Given the description of an element on the screen output the (x, y) to click on. 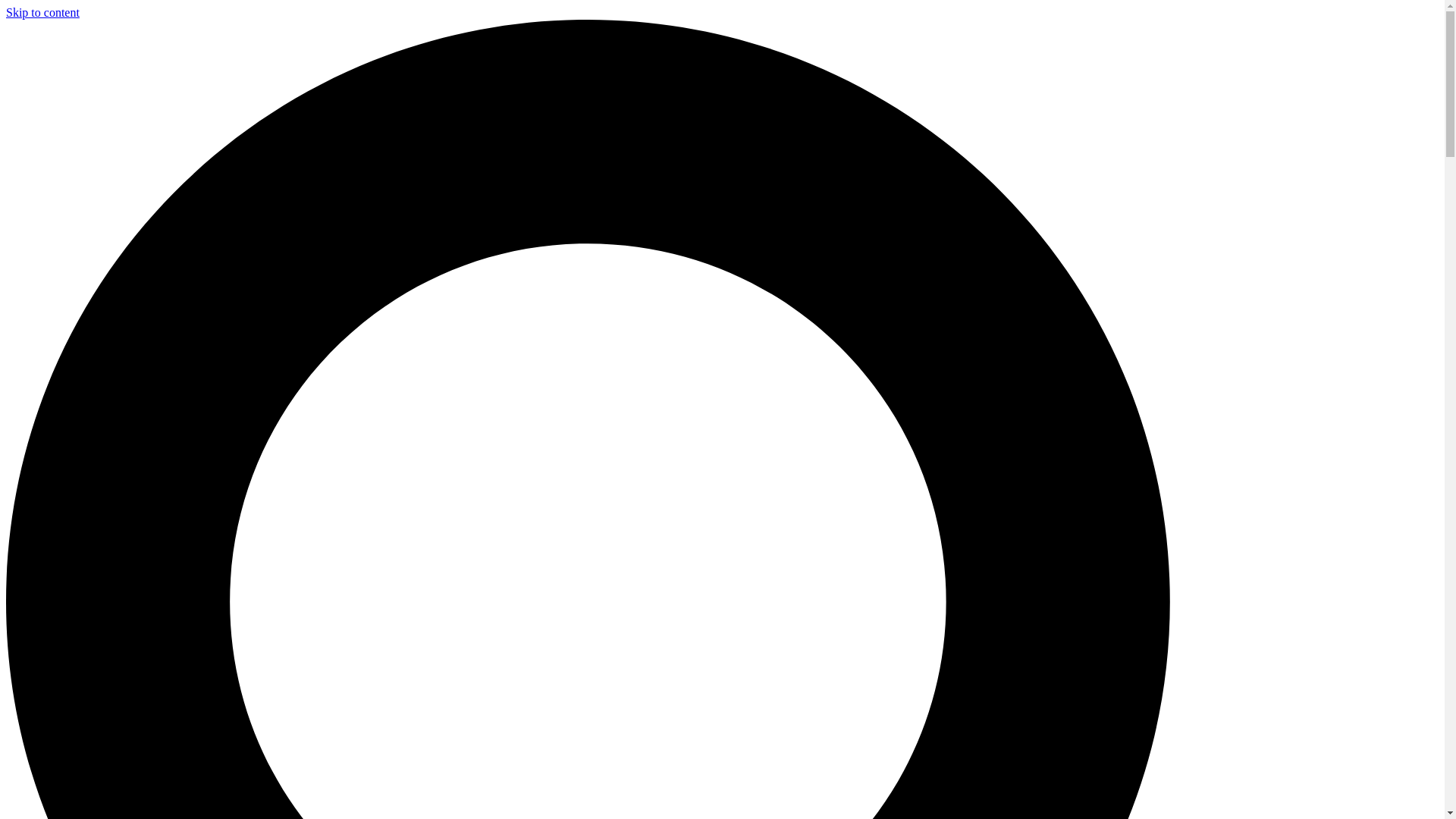
Skip to content (42, 11)
